Given the description of an element on the screen output the (x, y) to click on. 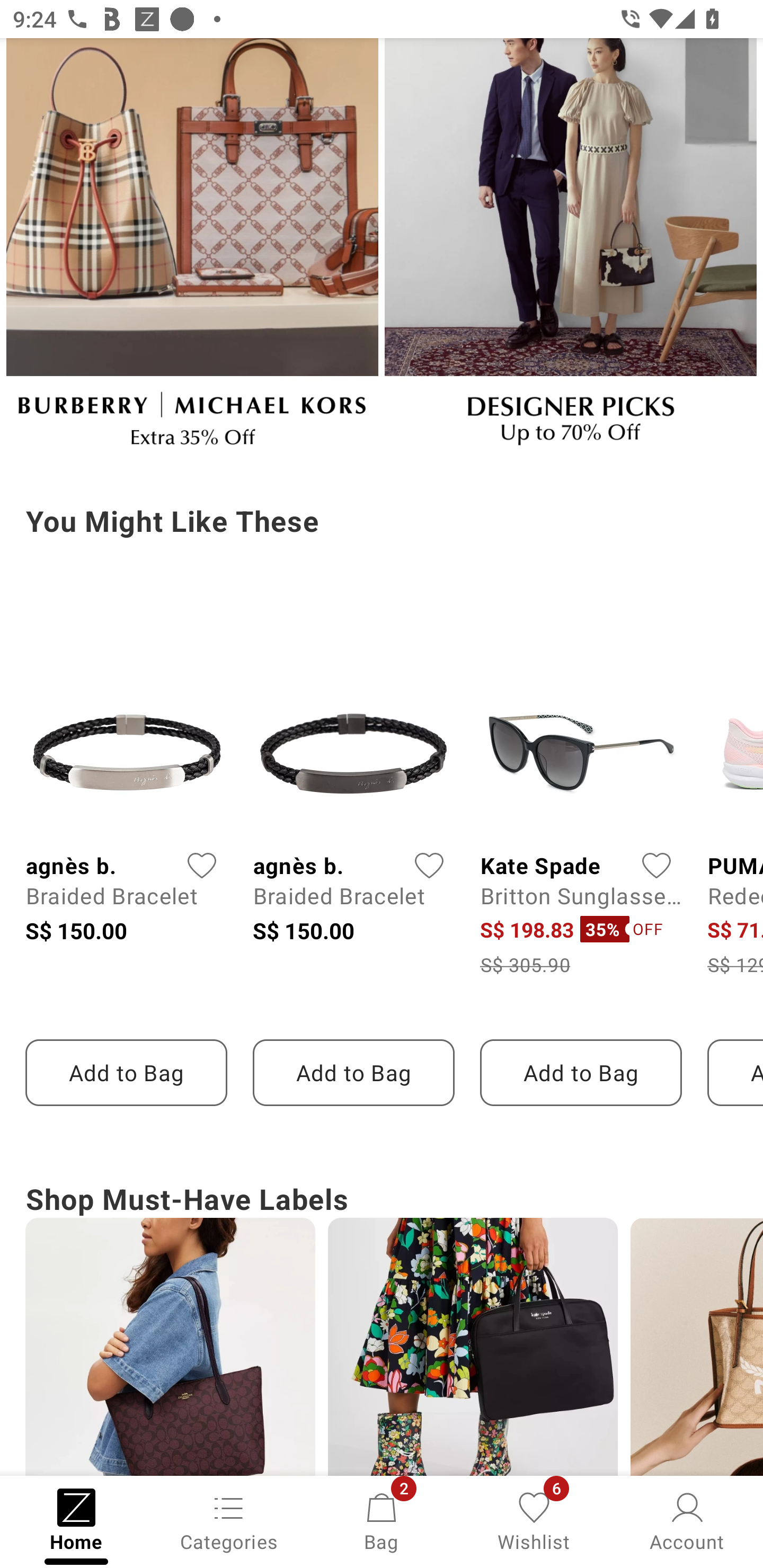
Campaign banner (192, 249)
Campaign banner (570, 249)
Add to Bag (126, 1072)
Add to Bag (353, 1072)
Add to Bag (580, 1072)
Campaign banner (170, 1346)
Campaign banner (473, 1346)
Categories (228, 1519)
Bag, 2 new notifications Bag (381, 1519)
Wishlist, 6 new notifications Wishlist (533, 1519)
Account (686, 1519)
